Given the description of an element on the screen output the (x, y) to click on. 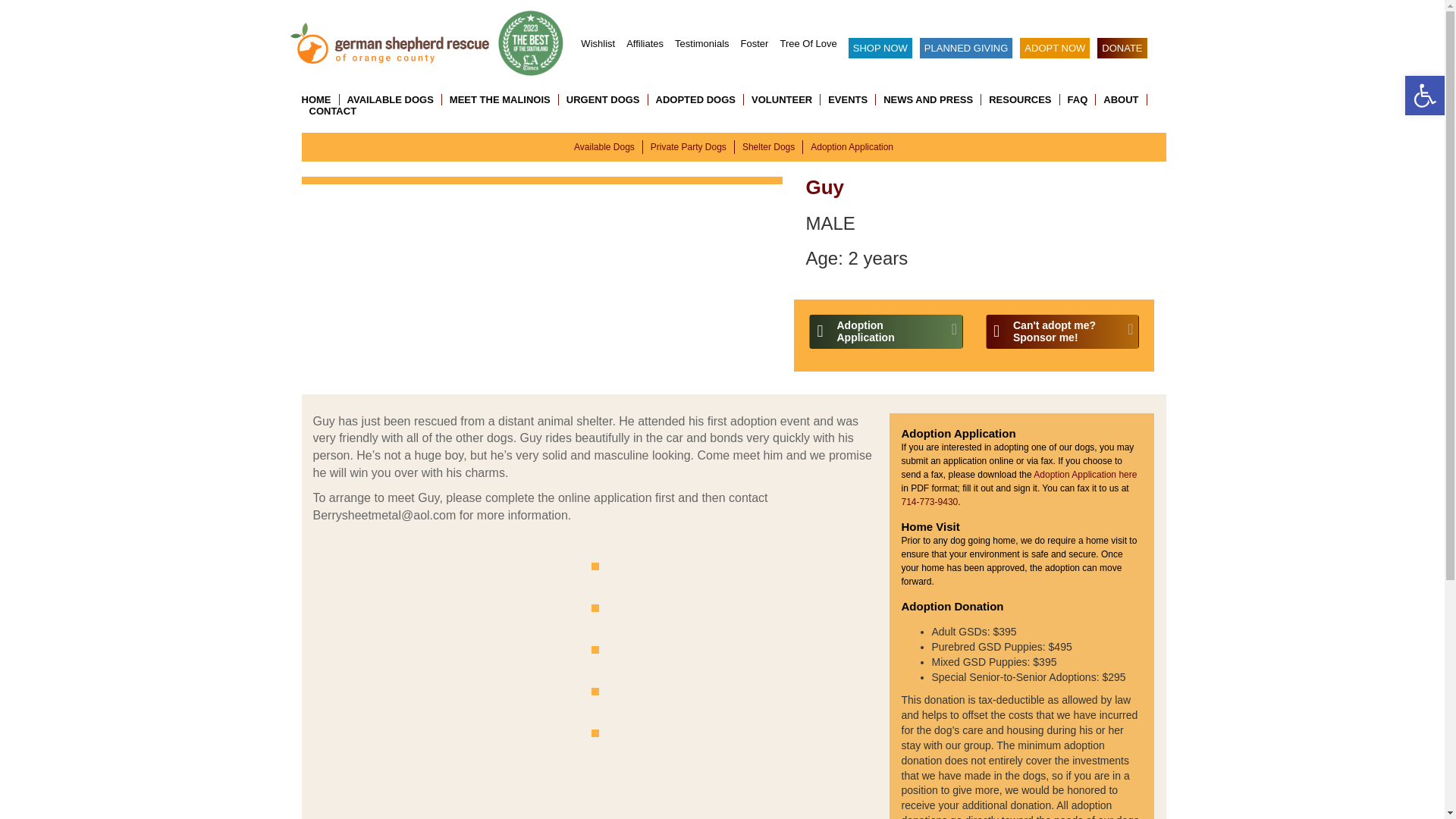
Adoption Application (851, 146)
URGENT DOGS (603, 99)
DONATE (1122, 47)
Wishlist (597, 43)
Testimonials (702, 43)
ABOUT (1121, 99)
Shelter Dogs (768, 146)
Affiliates (644, 43)
EVENTS (848, 99)
ADOPTED DOGS (695, 99)
